Given the description of an element on the screen output the (x, y) to click on. 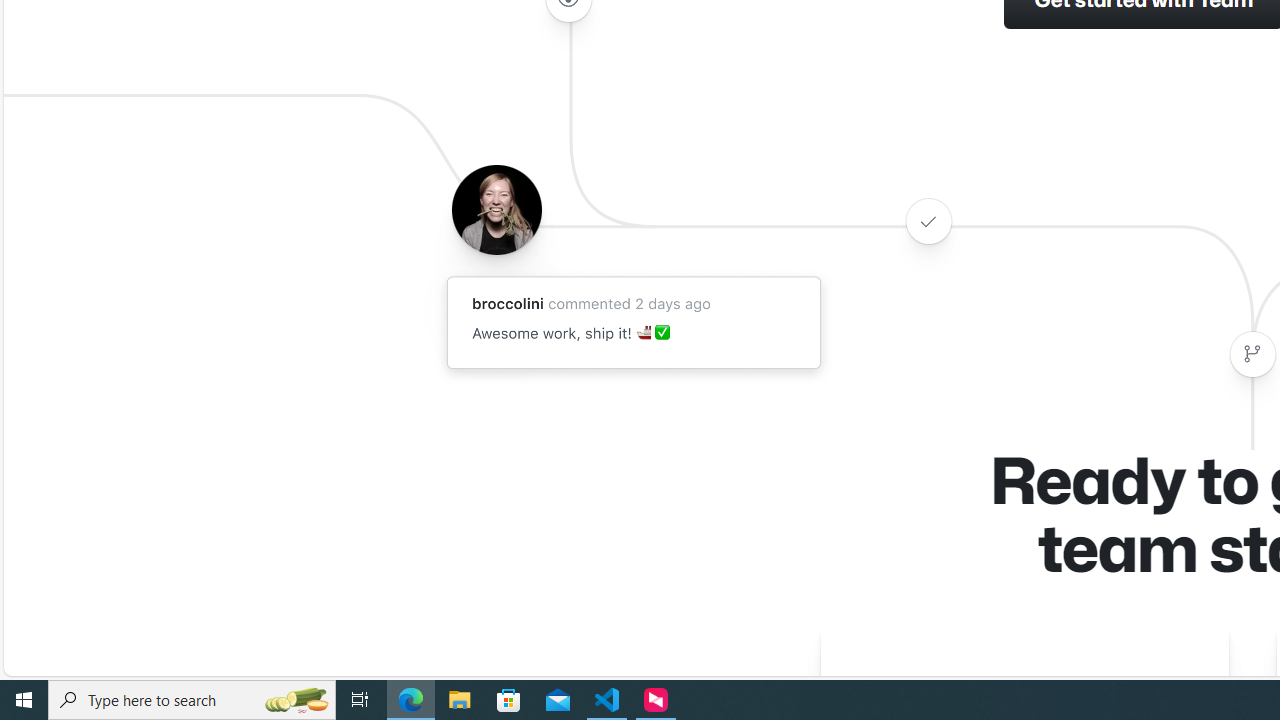
Class: color-fg-muted width-full (1252, 354)
Avatar of the user broccolini (495, 209)
